Given the description of an element on the screen output the (x, y) to click on. 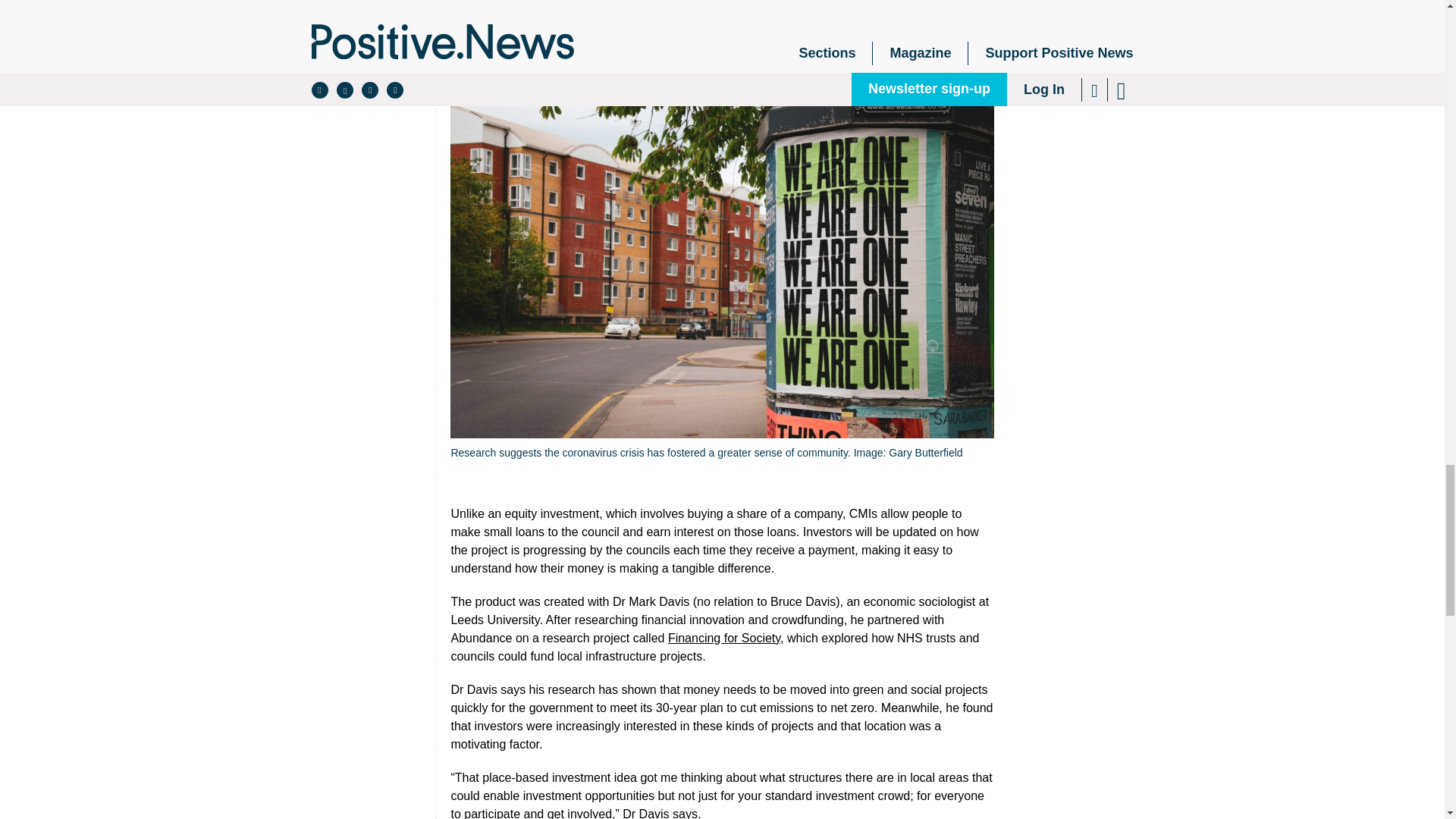
Financing for Society (724, 637)
